Given the description of an element on the screen output the (x, y) to click on. 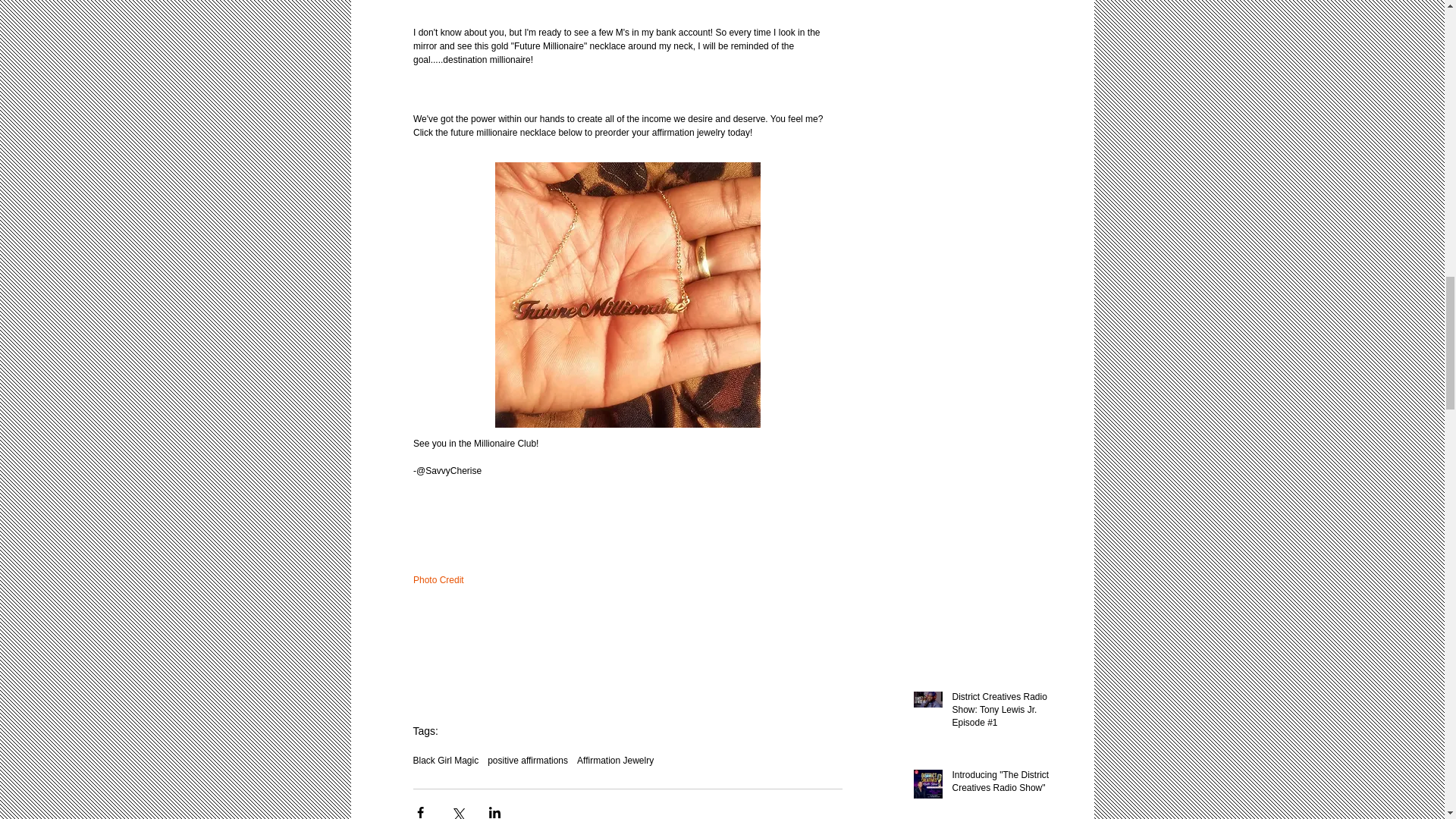
Affirmation Jewelry (614, 760)
Introducing "The District Creatives Radio Show" (1006, 784)
Black Girl Magic (445, 760)
positive affirmations (527, 760)
Photo Credit (437, 579)
